Given the description of an element on the screen output the (x, y) to click on. 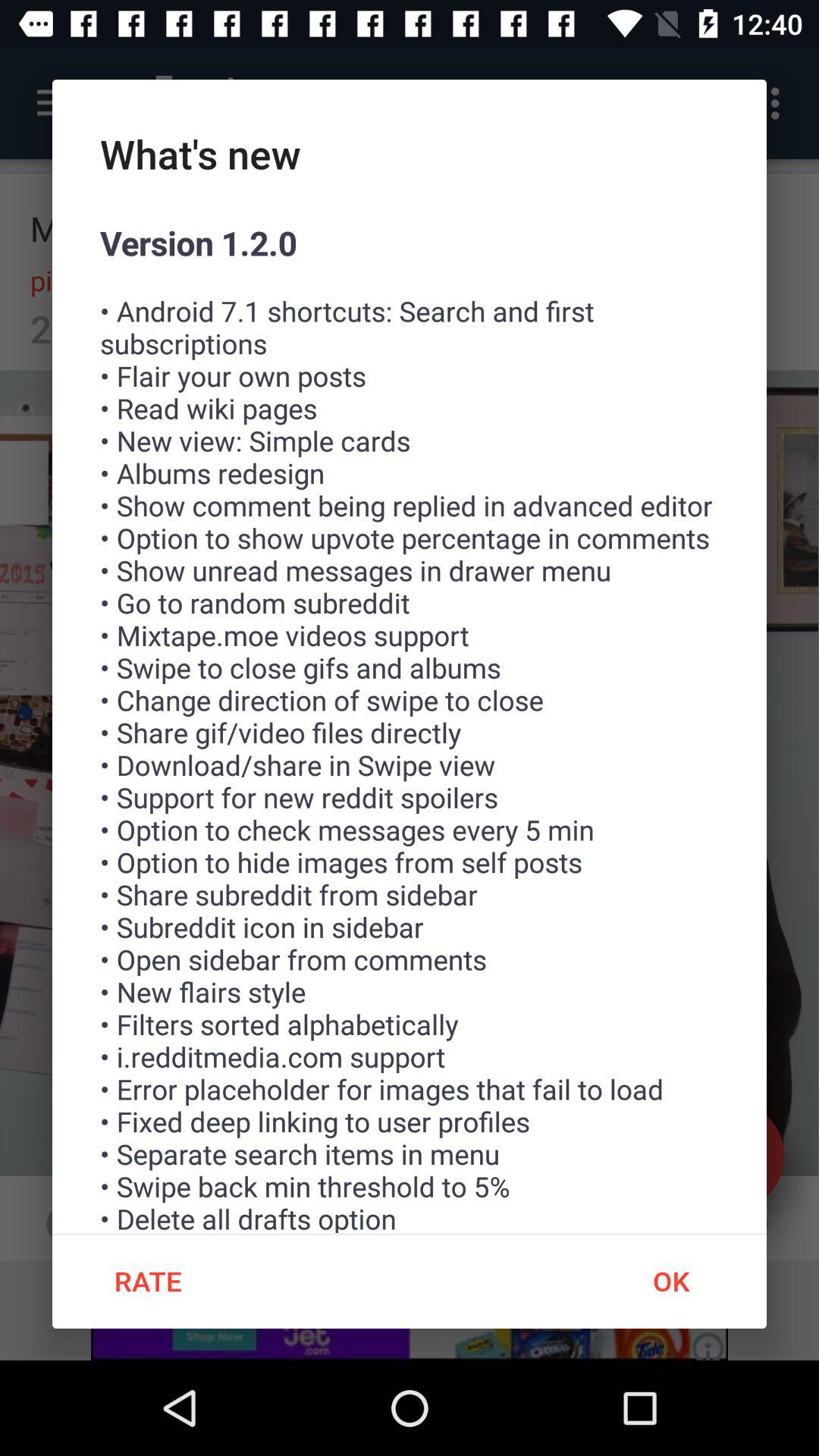
select the icon next to the rate (670, 1280)
